Given the description of an element on the screen output the (x, y) to click on. 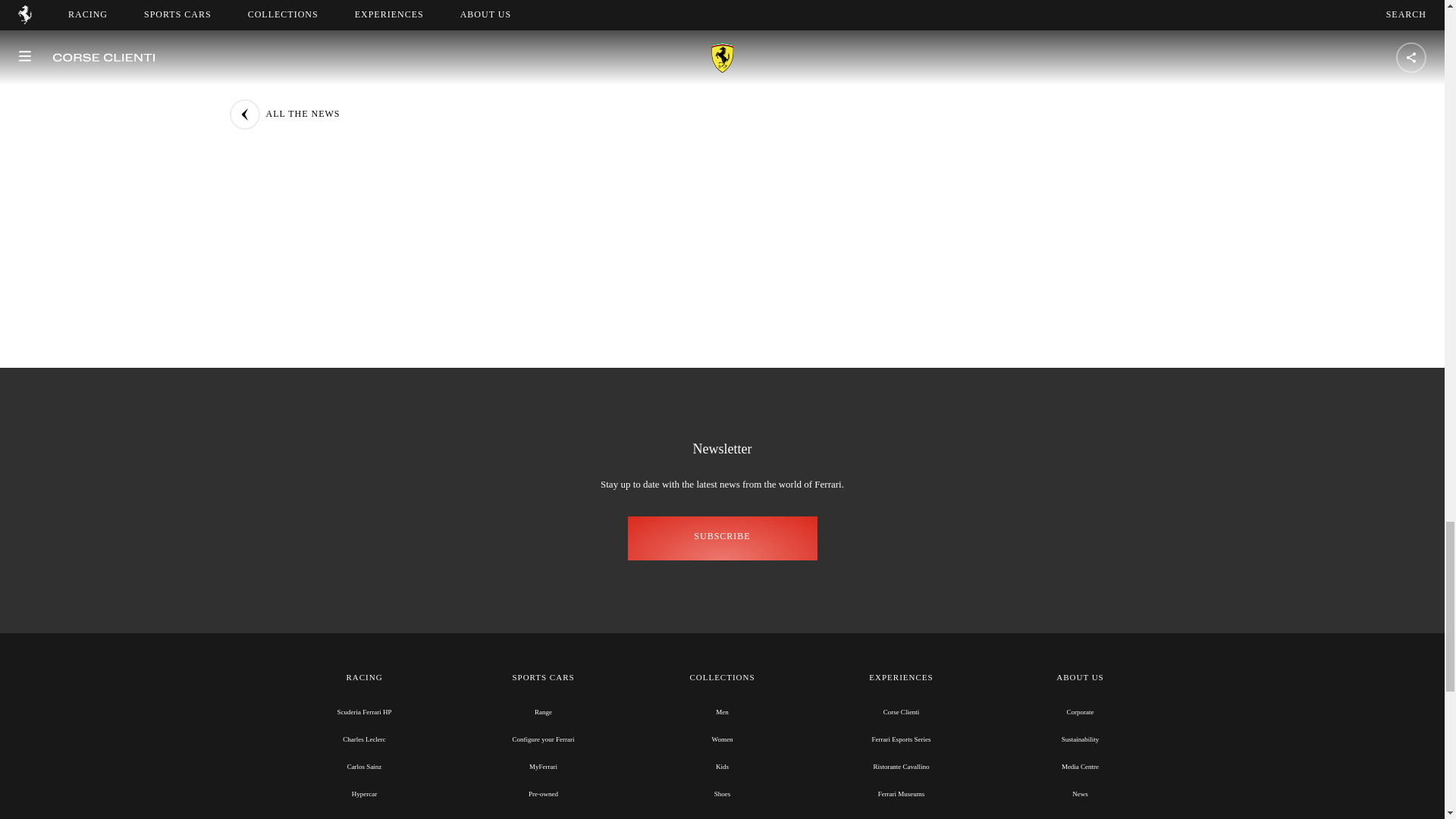
Hypercar (364, 793)
SUBSCRIBE (721, 537)
RACING (363, 677)
SPORTS CARS (542, 677)
GT Series (363, 818)
Configure your Ferrari (543, 738)
Pre-owned (542, 793)
Carlos Sainz (364, 766)
Range (542, 711)
Charles Leclerc (363, 738)
MyFerrari (543, 766)
Scuderia Ferrari HP (363, 711)
Dealers (542, 818)
